Given the description of an element on the screen output the (x, y) to click on. 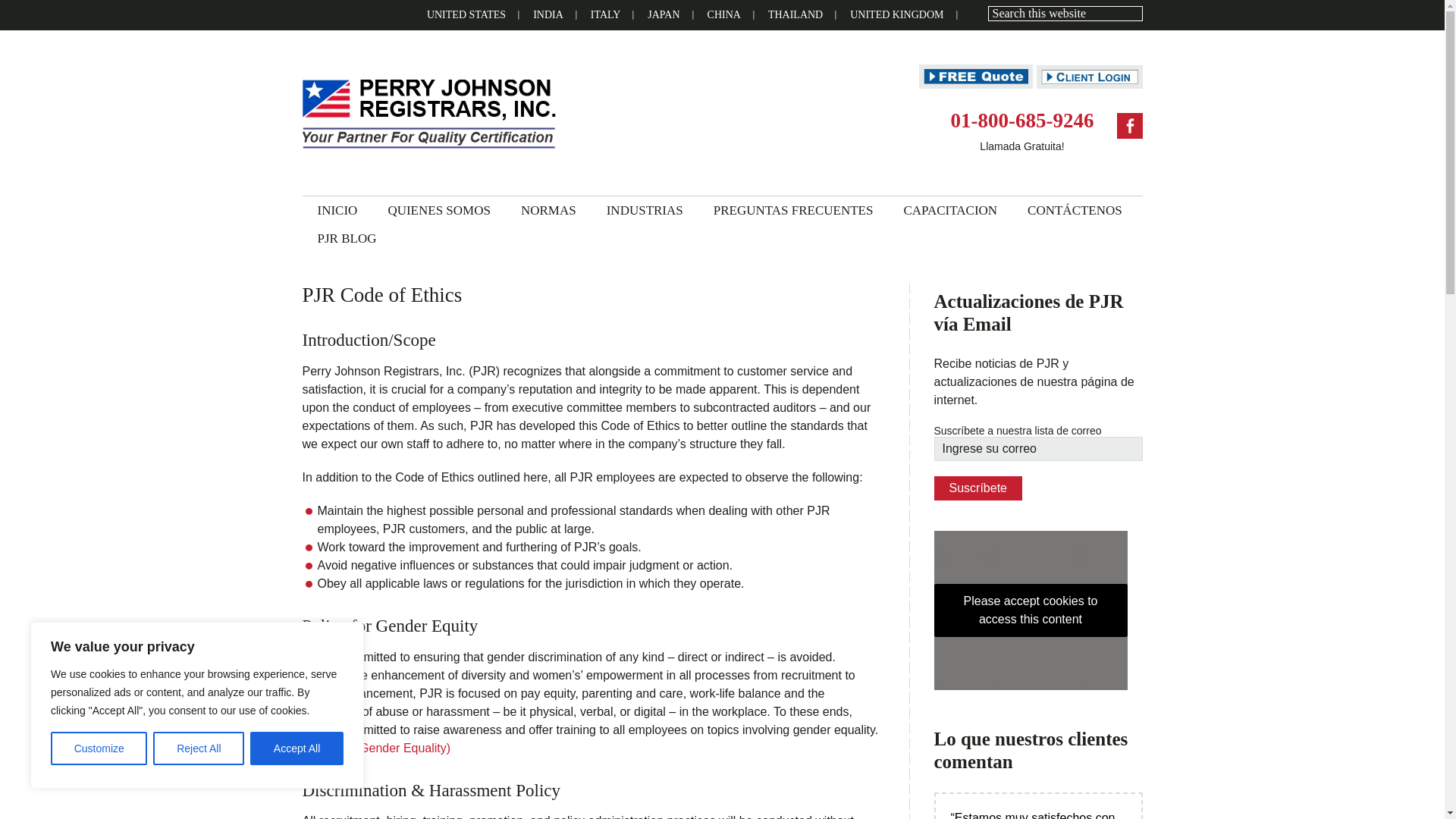
CHINA (724, 14)
INDIA (547, 14)
Customize (98, 748)
Facebook (1128, 125)
FREE Quote (975, 76)
Reject All (198, 748)
INICIO (336, 210)
THAILAND (794, 14)
Accept All (296, 748)
ITALY (604, 14)
JAPAN (663, 14)
UNITED KINGDOM (895, 14)
